Given the description of an element on the screen output the (x, y) to click on. 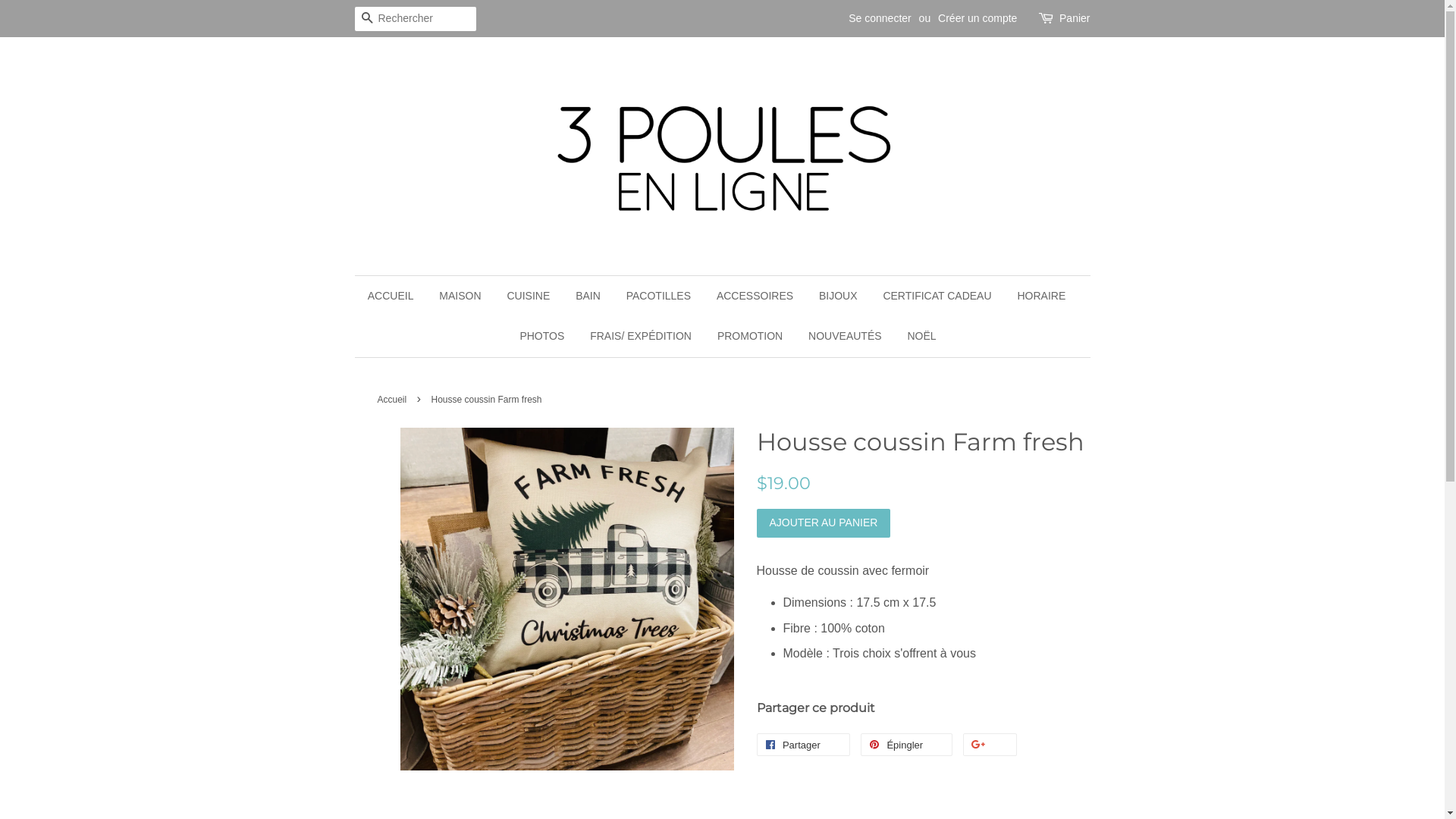
ACCUEIL Element type: text (396, 296)
CUISINE Element type: text (528, 296)
Se connecter Element type: text (879, 18)
BAIN Element type: text (587, 296)
Partager
Partager sur Facebook Element type: text (803, 744)
HORAIRE Element type: text (1040, 296)
Accueil Element type: text (394, 399)
BIJOUX Element type: text (838, 296)
Panier Element type: text (1074, 18)
PACOTILLES Element type: text (658, 296)
PROMOTION Element type: text (749, 336)
CERTIFICAT CADEAU Element type: text (936, 296)
AJOUTER AU PANIER Element type: text (823, 522)
MAISON Element type: text (459, 296)
ACCESSOIRES Element type: text (754, 296)
PHOTOS Element type: text (541, 336)
+1 sur Google Plus Element type: text (989, 744)
RECHERCHE Element type: text (366, 18)
